Given the description of an element on the screen output the (x, y) to click on. 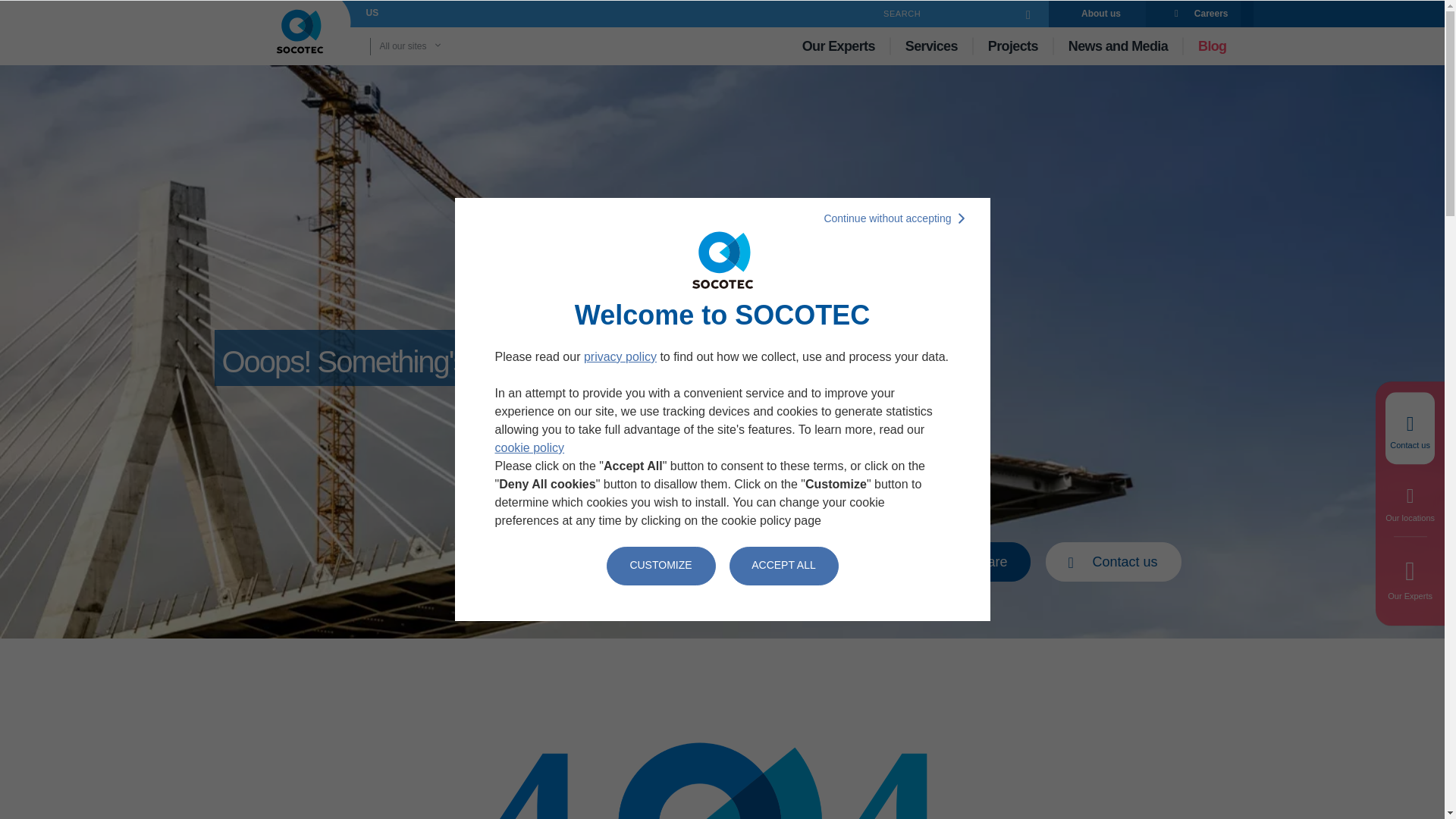
About us (1096, 13)
All our sites (430, 46)
Careers (1198, 13)
Services (930, 46)
Our Experts (838, 46)
Print (888, 561)
